Given the description of an element on the screen output the (x, y) to click on. 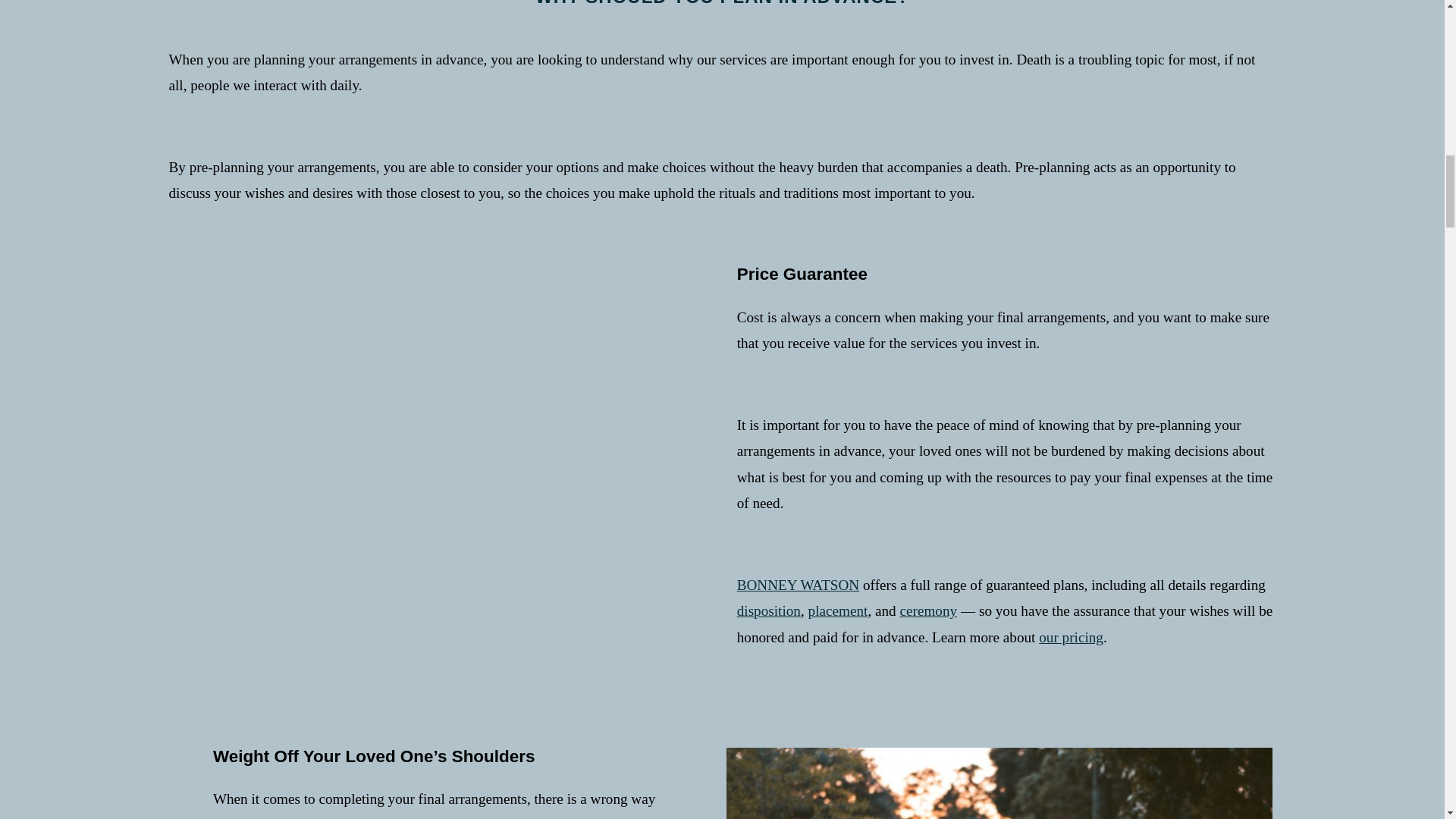
BONNEY WATSON (798, 584)
